Given the description of an element on the screen output the (x, y) to click on. 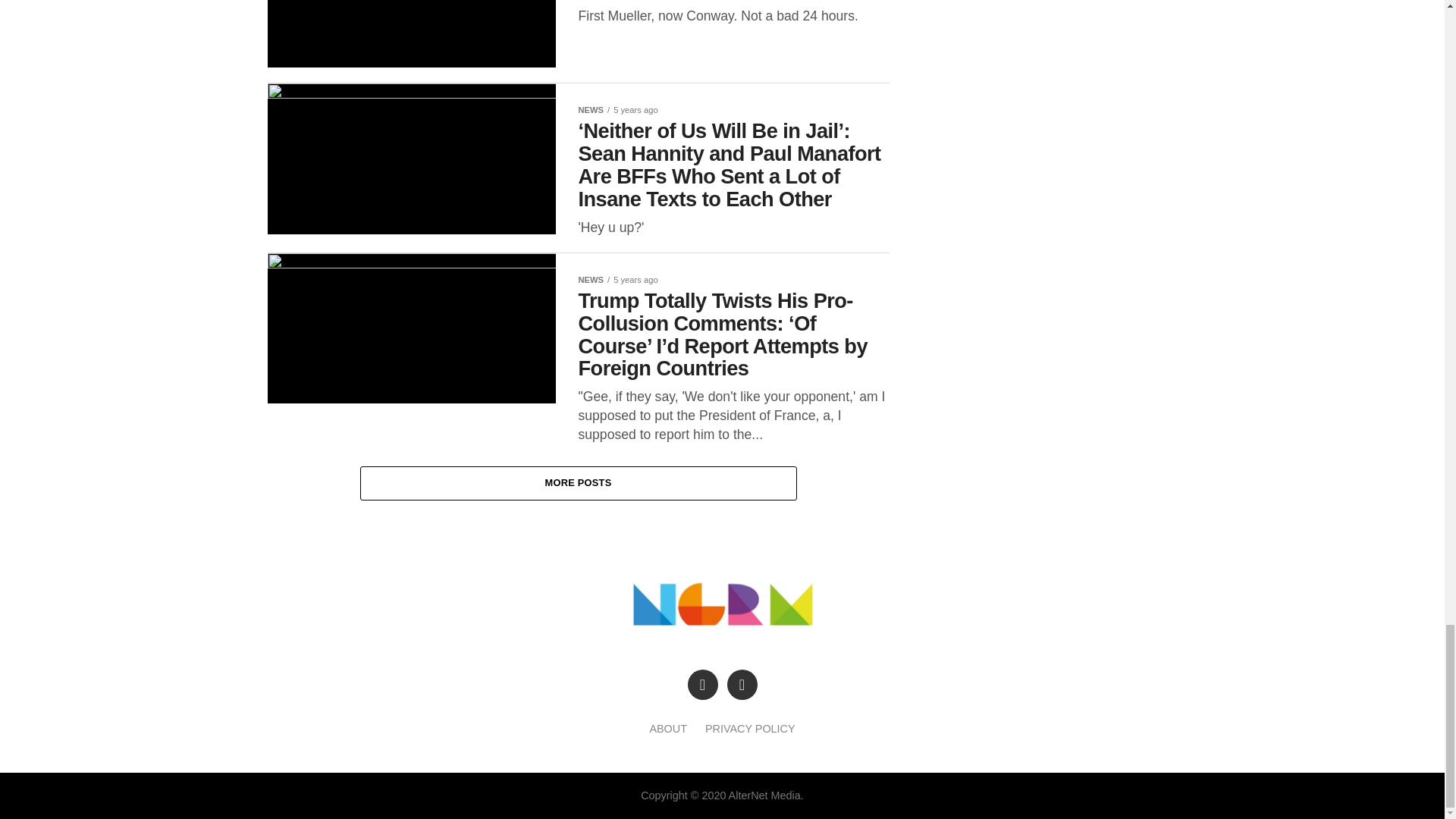
MORE POSTS (577, 483)
